Given the description of an element on the screen output the (x, y) to click on. 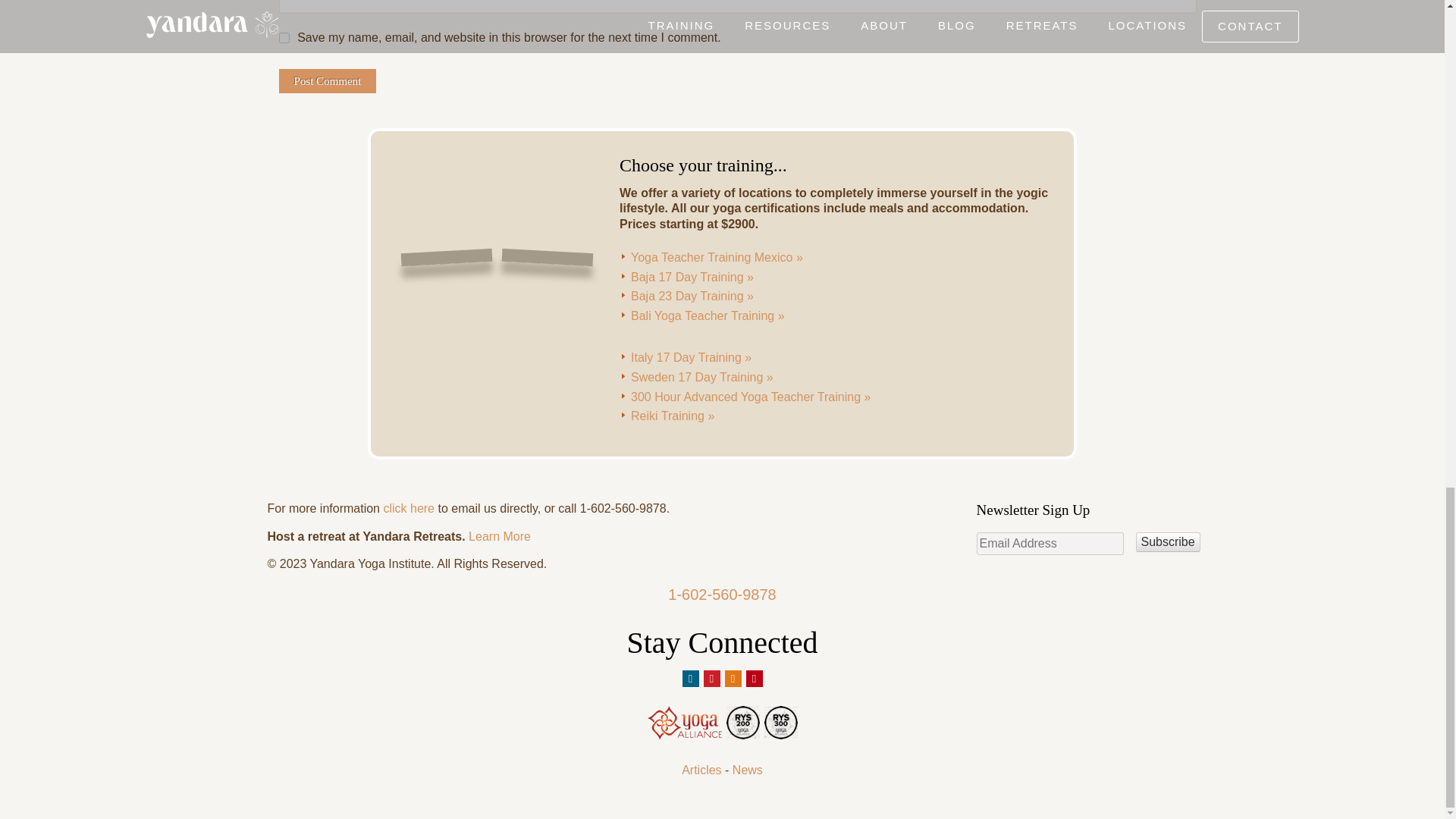
Facebook (690, 678)
Pinterest (711, 678)
Subscribe (1167, 541)
Instagram (733, 678)
Post Comment (328, 80)
Youtube (753, 678)
